Given the description of an element on the screen output the (x, y) to click on. 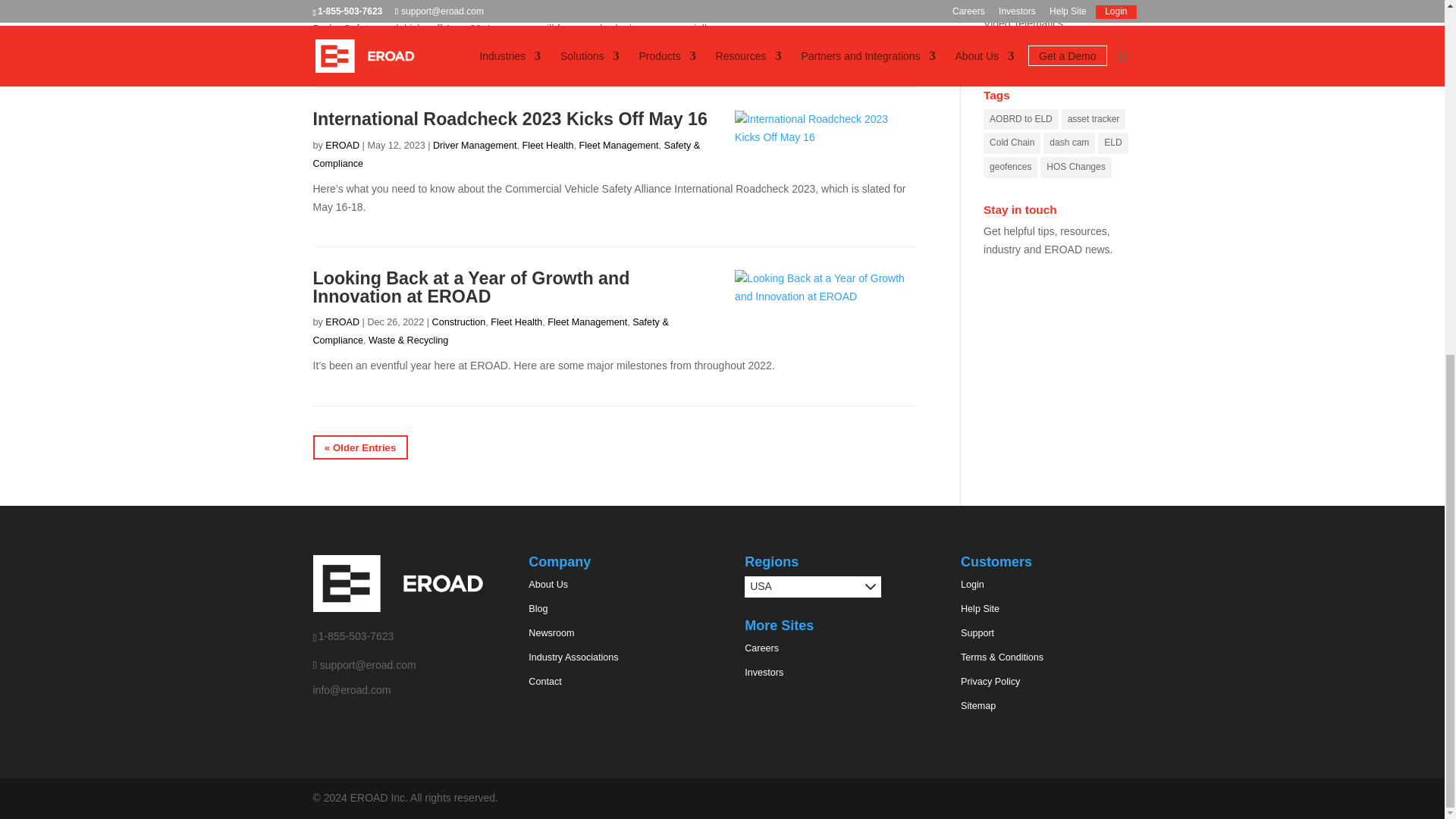
Posts by EROAD (341, 321)
Sitemap (977, 706)
Posts by EROAD (341, 145)
